Given the description of an element on the screen output the (x, y) to click on. 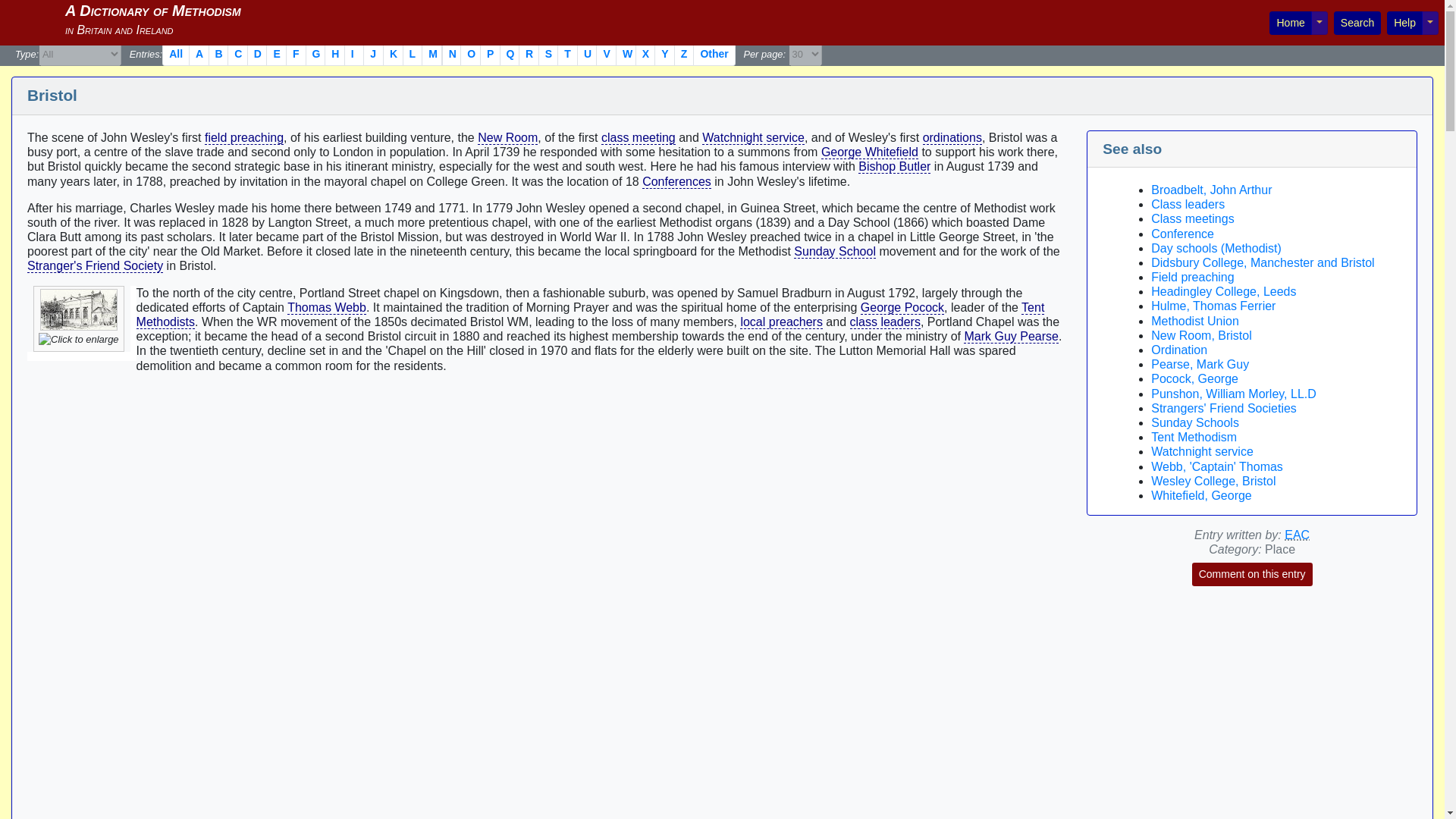
Entry for class meeting (638, 137)
All (175, 54)
Entry for field preaching (244, 137)
Entry for Watchnight service (753, 137)
Search page (1356, 22)
Help (1404, 22)
Search (1356, 22)
Entry for ordinations (952, 137)
Entry for New Room (507, 137)
Entry for Conferences (676, 182)
Entry for George Whitefield (869, 151)
Entry for Bishop Butler (894, 166)
Help page (1404, 22)
Other (714, 54)
Home (1290, 22)
